Given the description of an element on the screen output the (x, y) to click on. 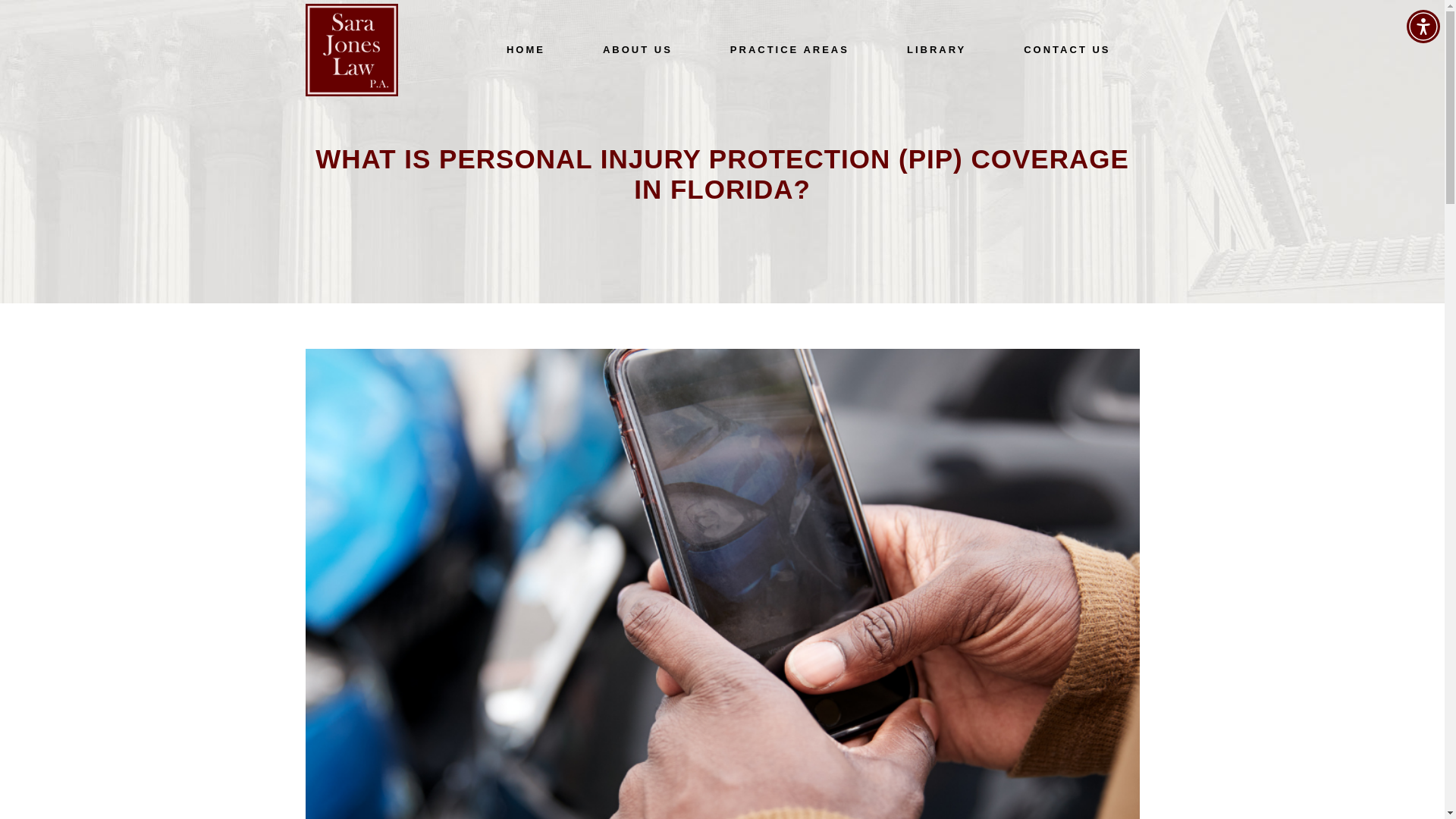
LIBRARY (935, 49)
CONTACT US (1066, 49)
PRACTICE AREAS (789, 49)
Accessibility Menu (1422, 26)
ABOUT US (637, 49)
HOME (525, 49)
